Given the description of an element on the screen output the (x, y) to click on. 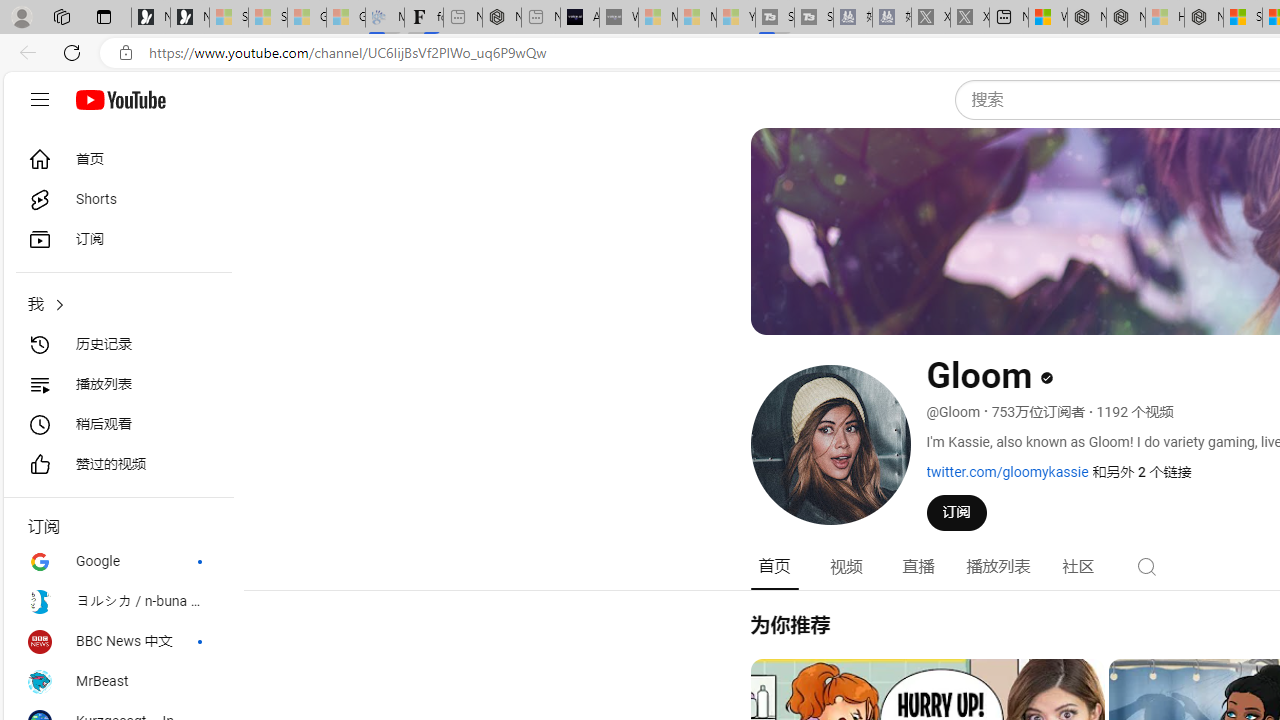
Nordace - Nordace Siena Is Not An Ordinary Backpack (1203, 17)
Microsoft Start Sports - Sleeping (657, 17)
